Given the description of an element on the screen output the (x, y) to click on. 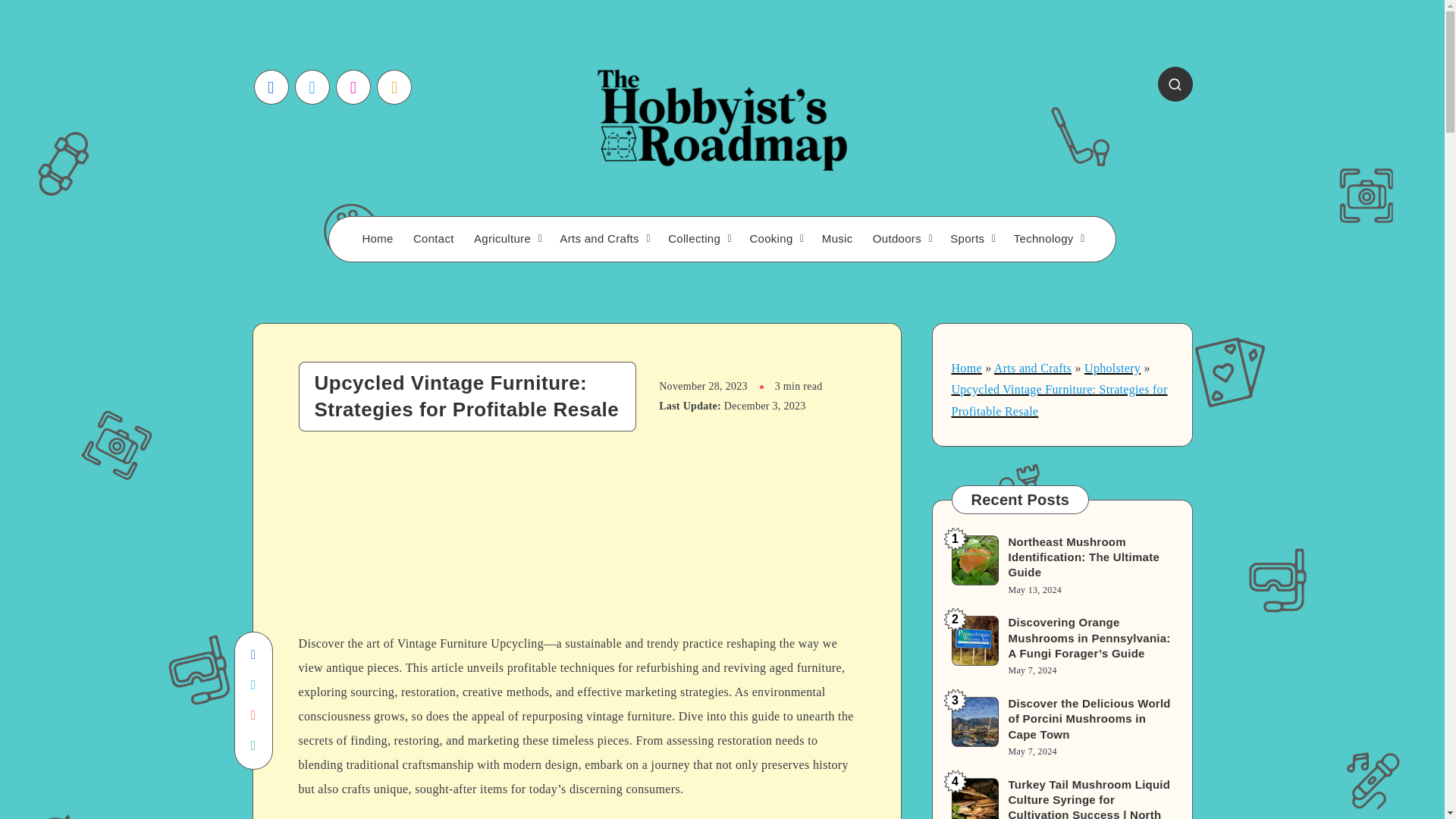
Collecting (694, 238)
Upcycled Vintage Furniture: Strategies for Profitable Resale (1058, 400)
Advertisement (577, 546)
Home (965, 367)
Arts and Crafts (599, 238)
Agriculture (502, 238)
Home (377, 238)
Arts and Crafts (1032, 367)
Contact (433, 238)
Upholstery (1112, 367)
